Given the description of an element on the screen output the (x, y) to click on. 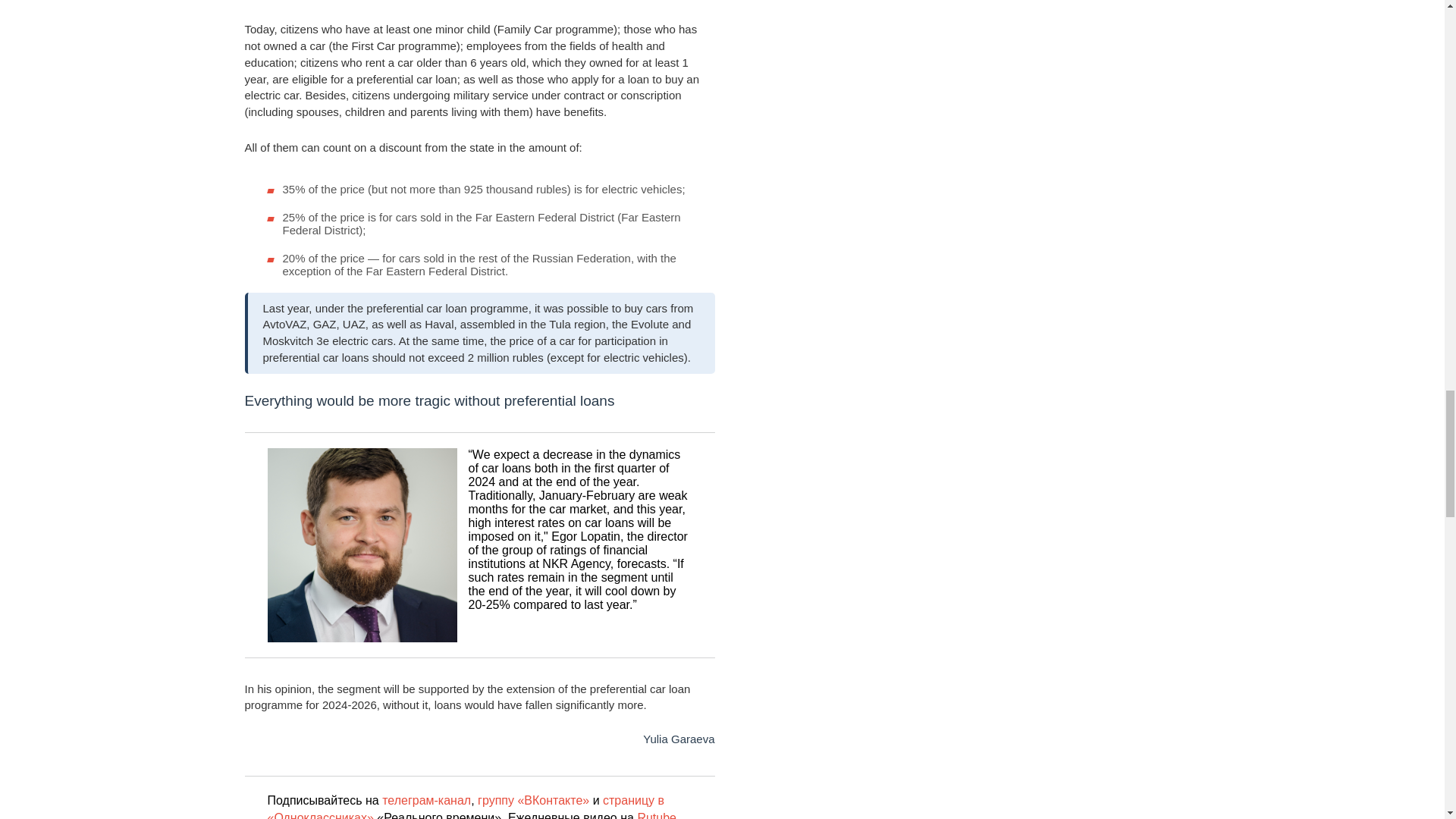
Rutube (657, 815)
